Given the description of an element on the screen output the (x, y) to click on. 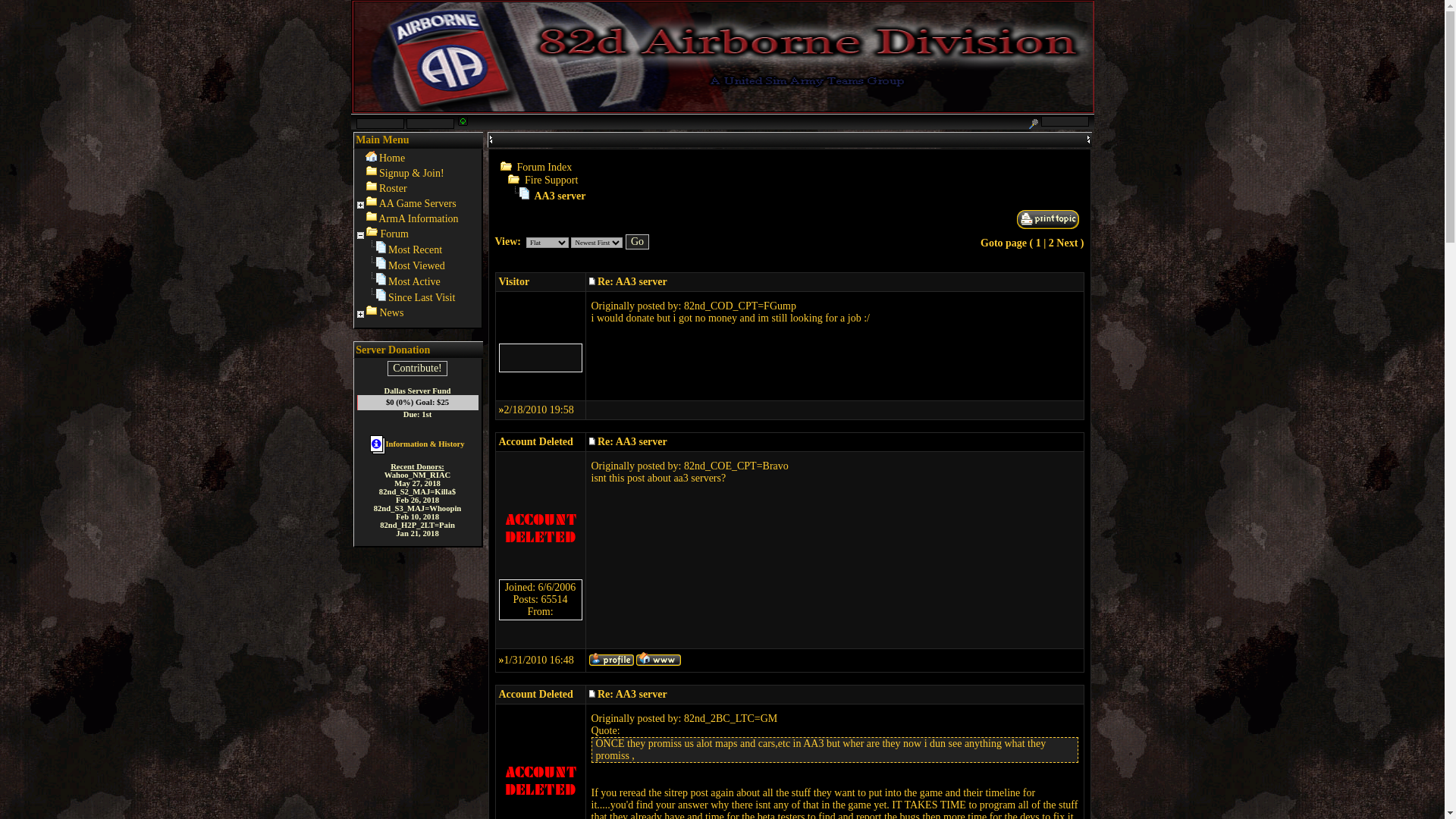
ArmA Information (418, 218)
Forum (394, 233)
Account Deleted (536, 694)
News (390, 312)
Home (391, 157)
Account Deleted (536, 441)
Forum Index (544, 166)
Most Viewed (416, 265)
Roster (392, 188)
Fire Support (551, 179)
